Given the description of an element on the screen output the (x, y) to click on. 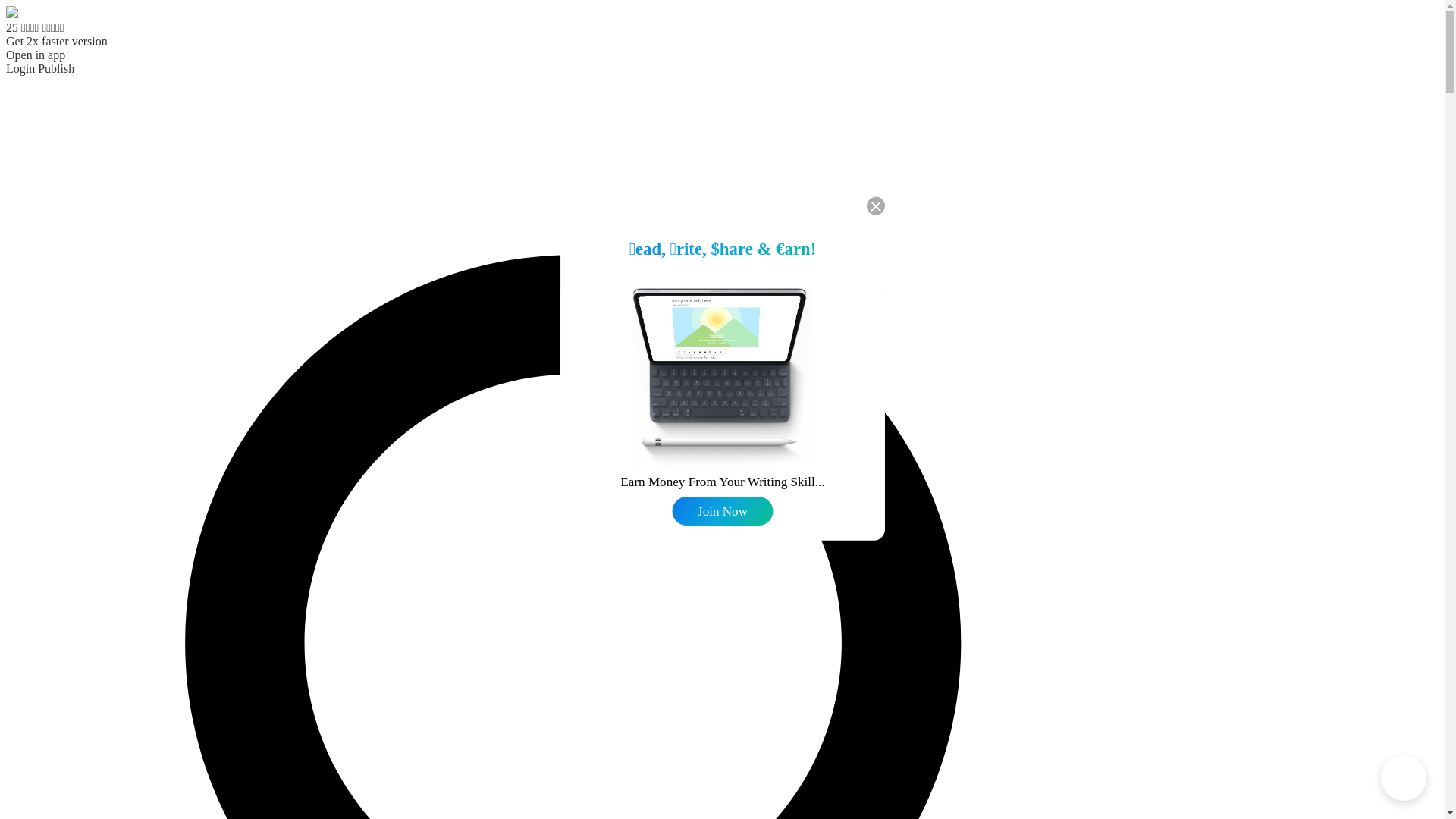
No Element type: text (765, 458)
Yes Element type: text (683, 458)
Join Now Element type: text (724, 511)
Login Element type: text (20, 68)
(+91) 8081113111 Element type: text (665, 516)
Join Us Element type: text (686, 490)
Publish Element type: text (55, 68)
pr@25hrnews.com Element type: text (782, 516)
